Given the description of an element on the screen output the (x, y) to click on. 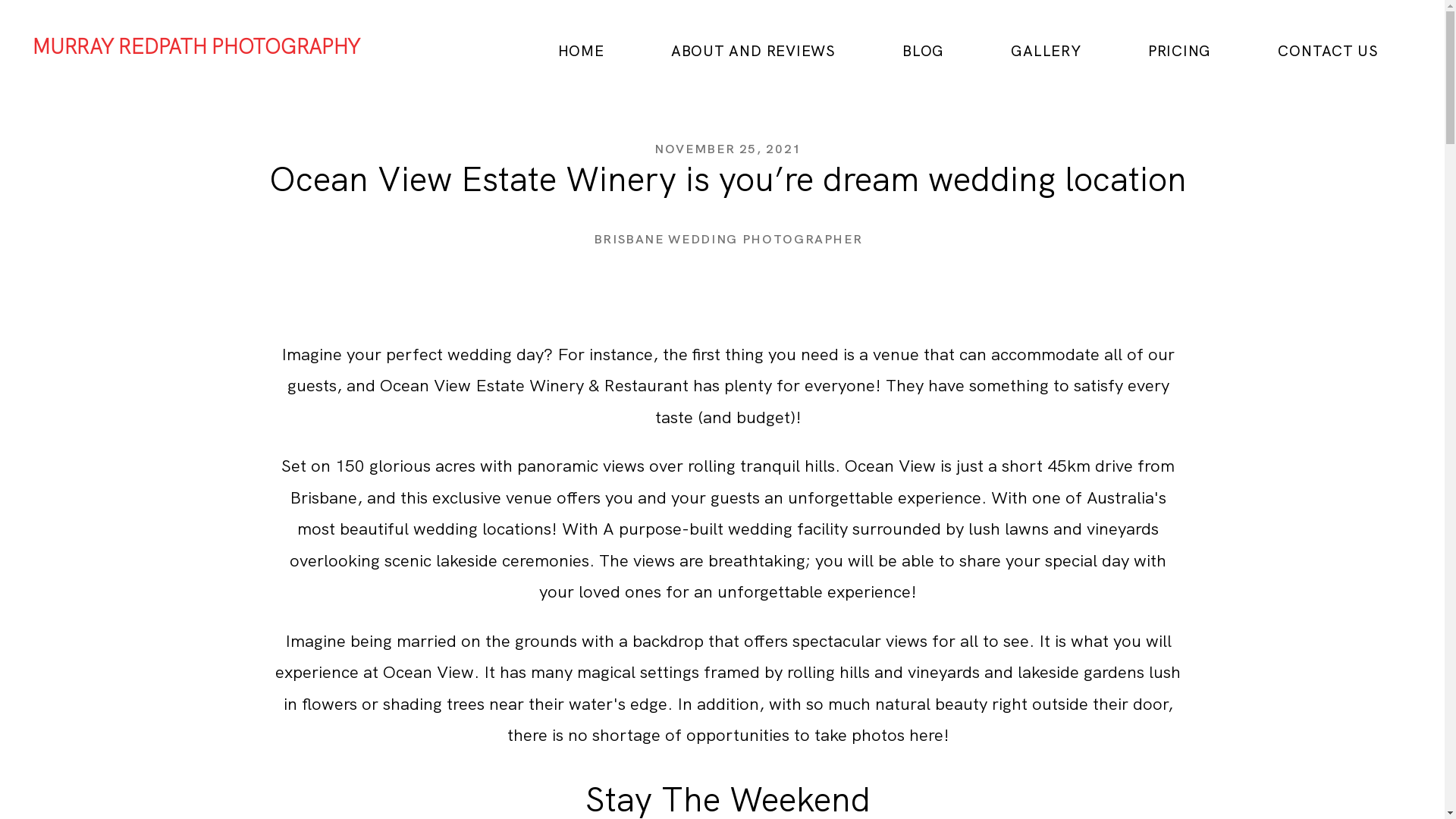
GALLERY Element type: text (1045, 51)
ABOUT AND REVIEWS Element type: text (753, 51)
HOME Element type: text (581, 51)
CONTACT US Element type: text (1327, 51)
MURRAY REDPATH PHOTOGRAPHY Element type: text (196, 46)
BLOG Element type: text (923, 51)
PRICING Element type: text (1179, 51)
BRISBANE WEDDING PHOTOGRAPHER Element type: text (727, 238)
